Given the description of an element on the screen output the (x, y) to click on. 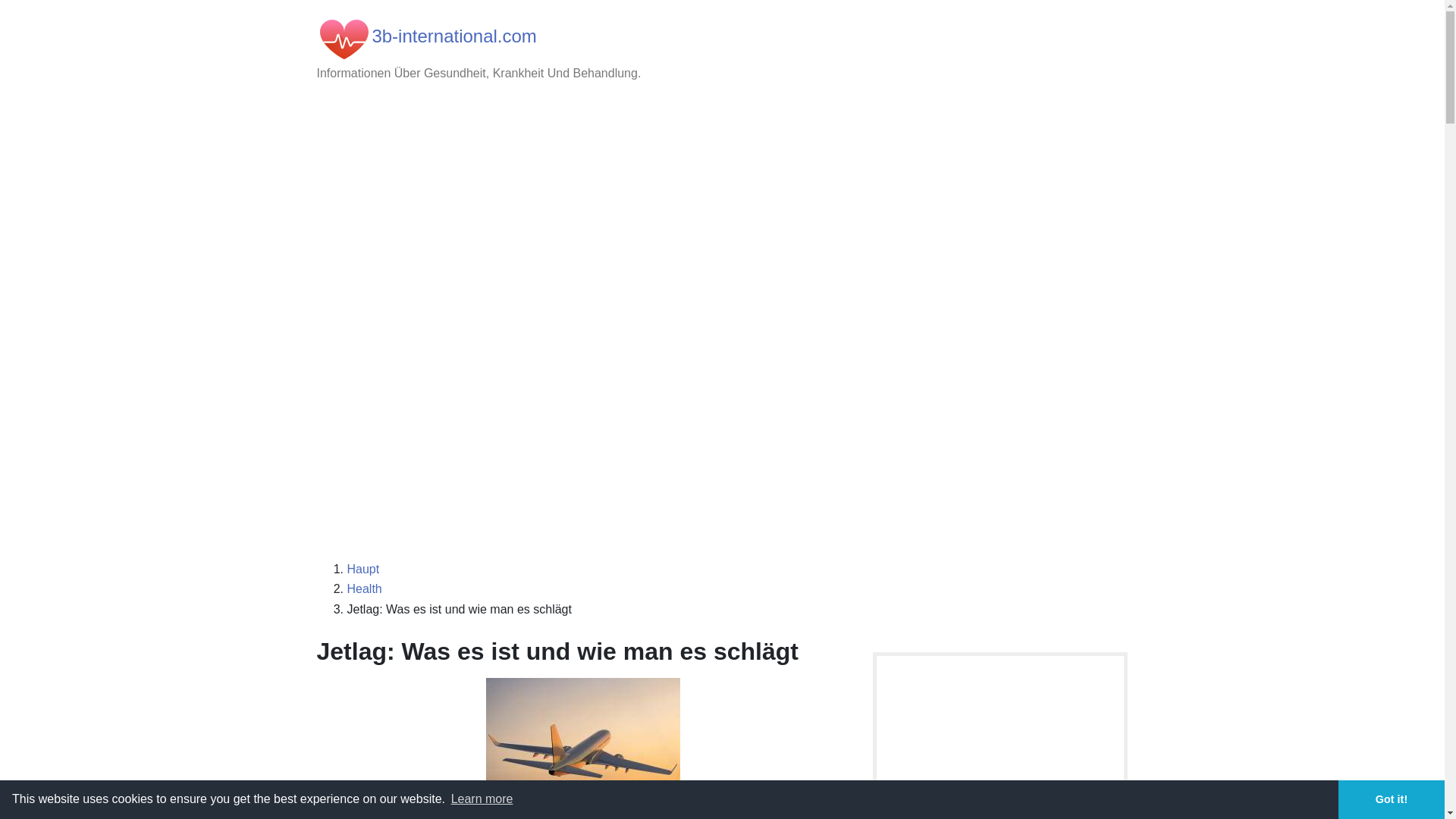
Health Element type: text (364, 588)
Advertisement Element type: hover (722, 438)
3b-international.com Element type: text (453, 35)
Learn more Element type: text (481, 798)
Advertisement Element type: hover (722, 217)
Haupt Element type: text (363, 568)
